Given the description of an element on the screen output the (x, y) to click on. 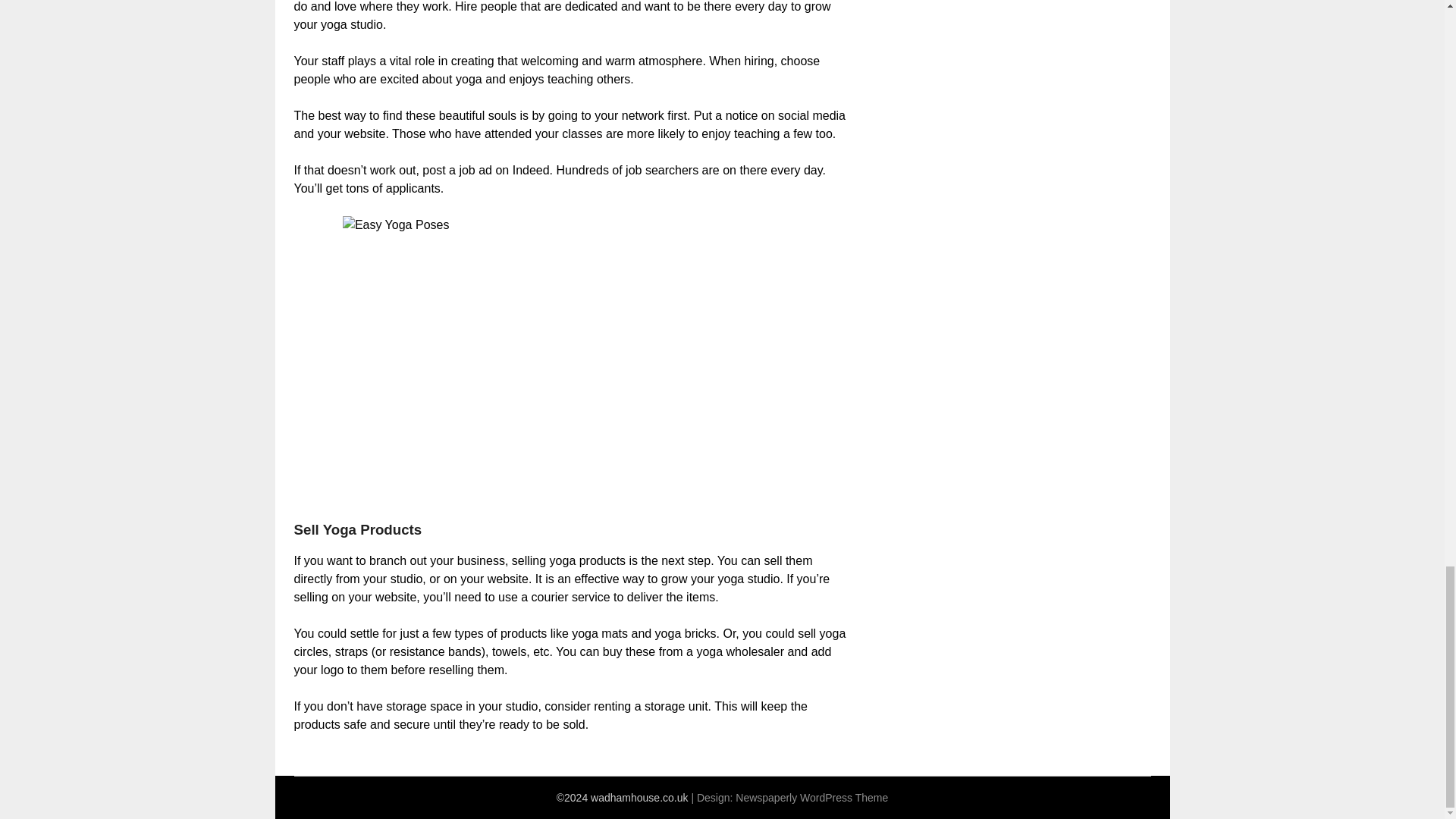
5 Powerful Tips to Grow Your Yoga Studio (569, 359)
